Given the description of an element on the screen output the (x, y) to click on. 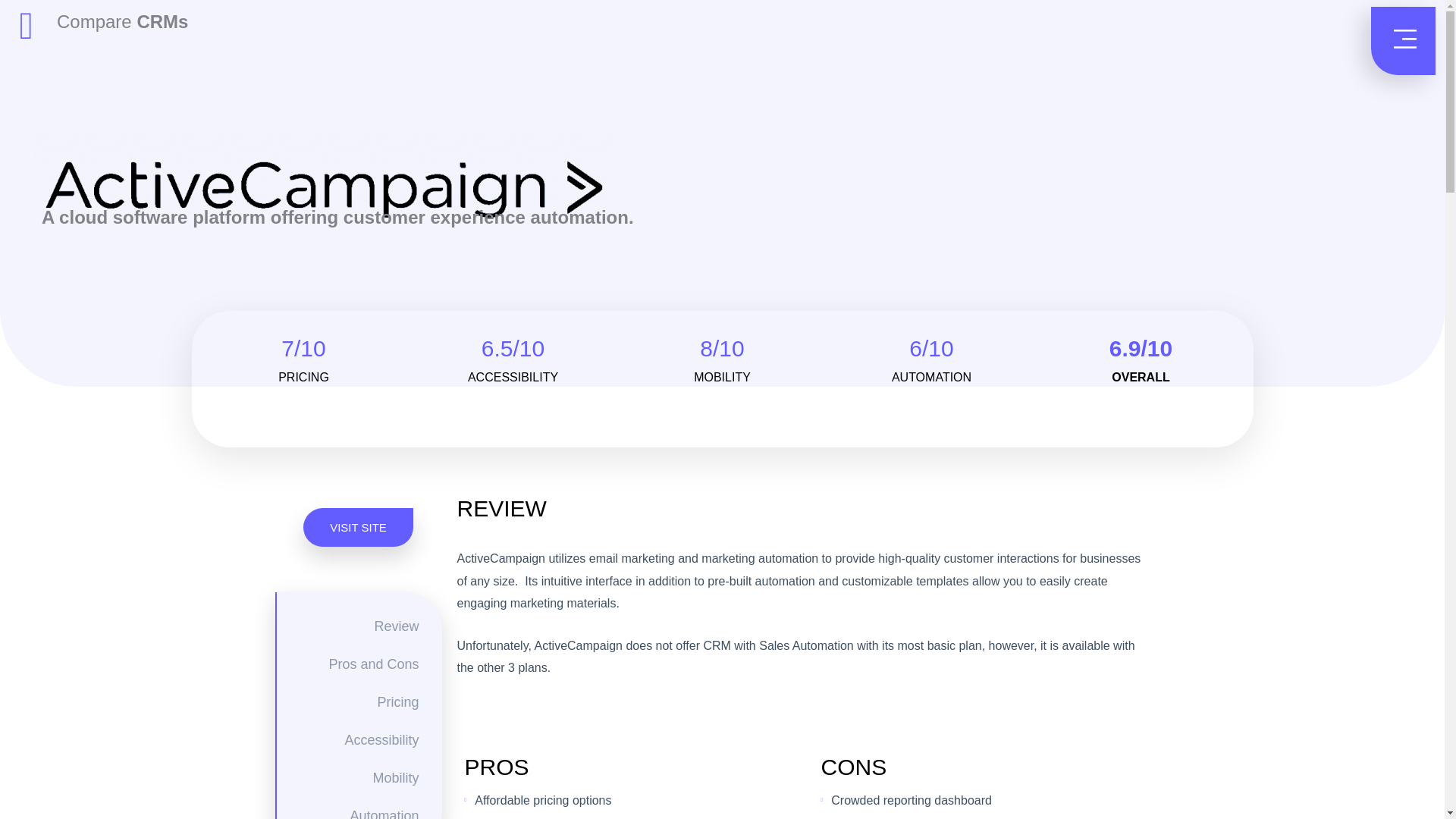
AUTOMATION (931, 377)
MOBILITY (722, 377)
Menu-new (1403, 40)
Automation (347, 813)
ACCESSIBILITY (512, 377)
Review (347, 626)
PRICING (303, 377)
Compare CRMs (121, 21)
Pros and Cons (347, 663)
Accessibility (347, 739)
